Given the description of an element on the screen output the (x, y) to click on. 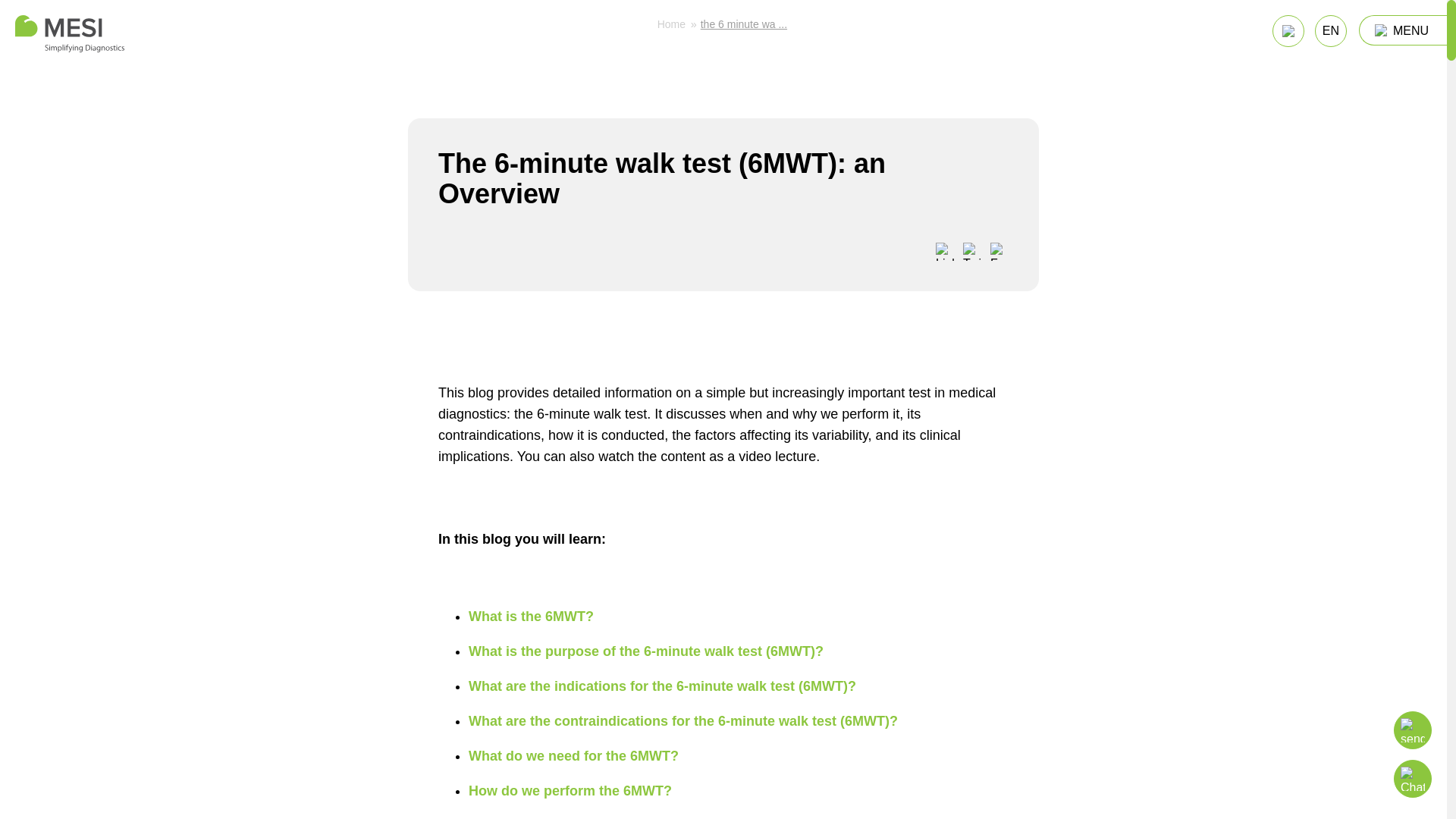
What is the 6MWT? (531, 616)
Facebook (999, 251)
the 6 minute wa ... breadcrumbs (743, 24)
LinkedIn (944, 251)
What do we need for the 6MWT? (573, 755)
Home breadcrumbs (671, 24)
Twitter (971, 251)
the 6 minute wa ... (743, 24)
Home (671, 24)
How do we perform the 6MWT? (569, 790)
